Given the description of an element on the screen output the (x, y) to click on. 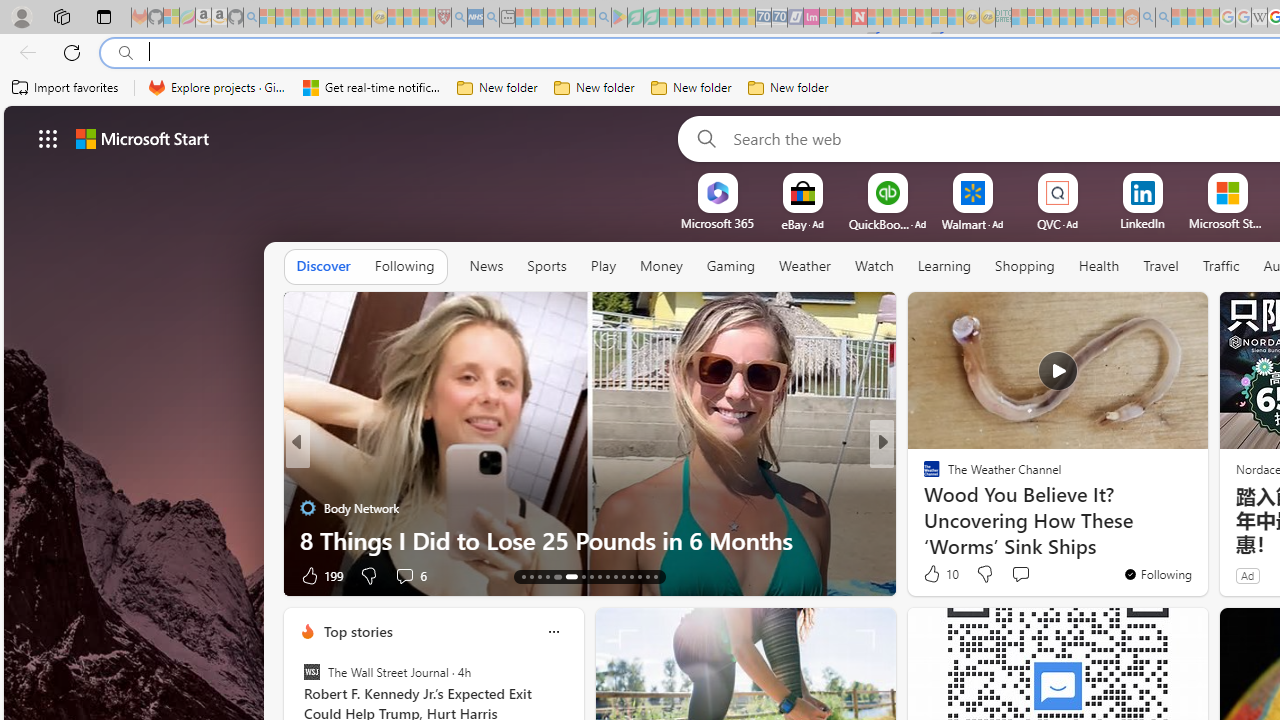
Traffic (1220, 265)
Target page - Wikipedia - Sleeping (1259, 17)
LinkedIn (1142, 223)
Sports (546, 265)
You're following The Weather Channel (1157, 573)
AutomationID: tab-23 (614, 576)
CNN (923, 475)
887 Like (936, 574)
